Given the description of an element on the screen output the (x, y) to click on. 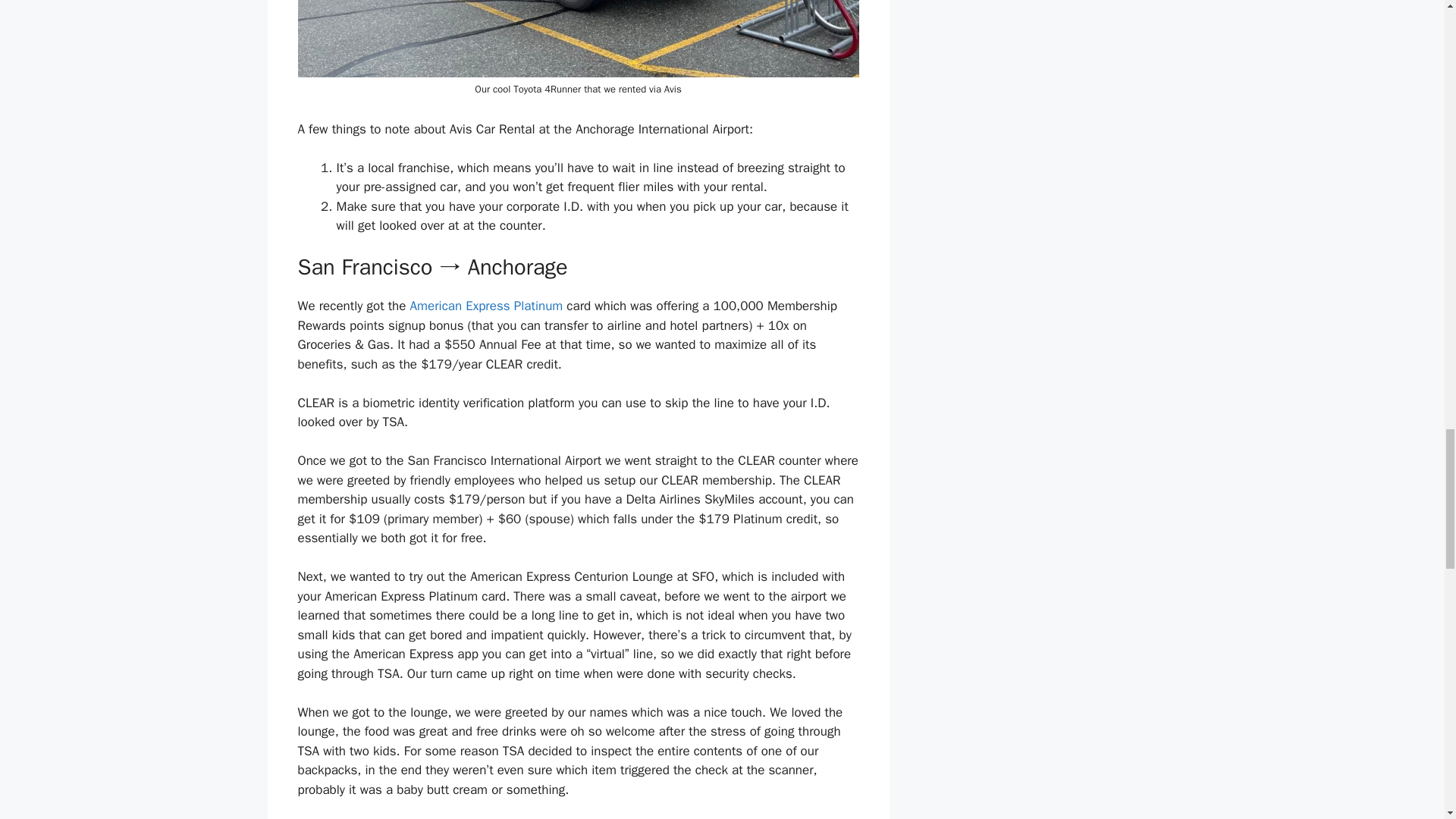
American Express Platinum (486, 305)
